Given the description of an element on the screen output the (x, y) to click on. 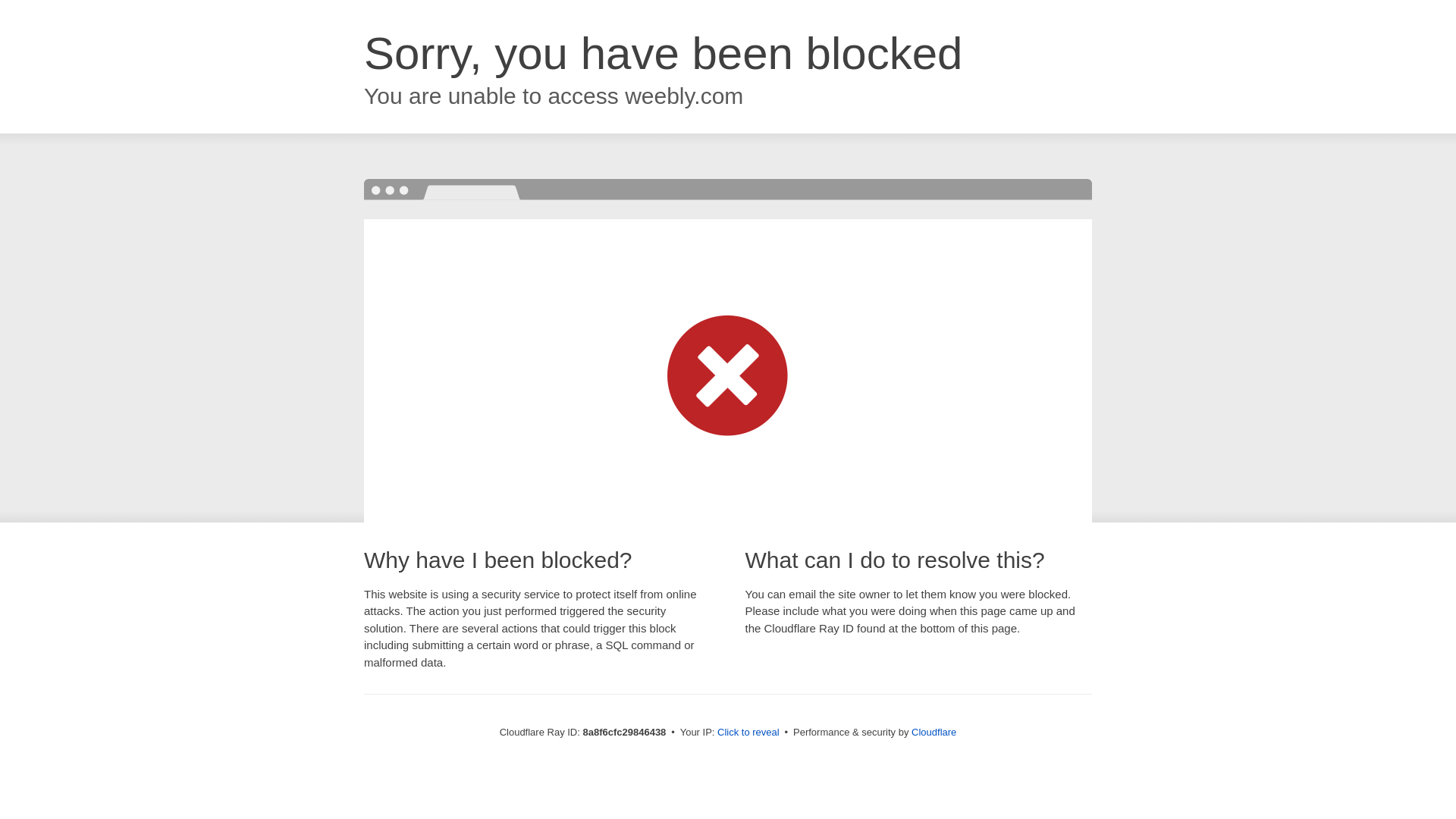
Click to reveal (747, 732)
Cloudflare (933, 731)
